Given the description of an element on the screen output the (x, y) to click on. 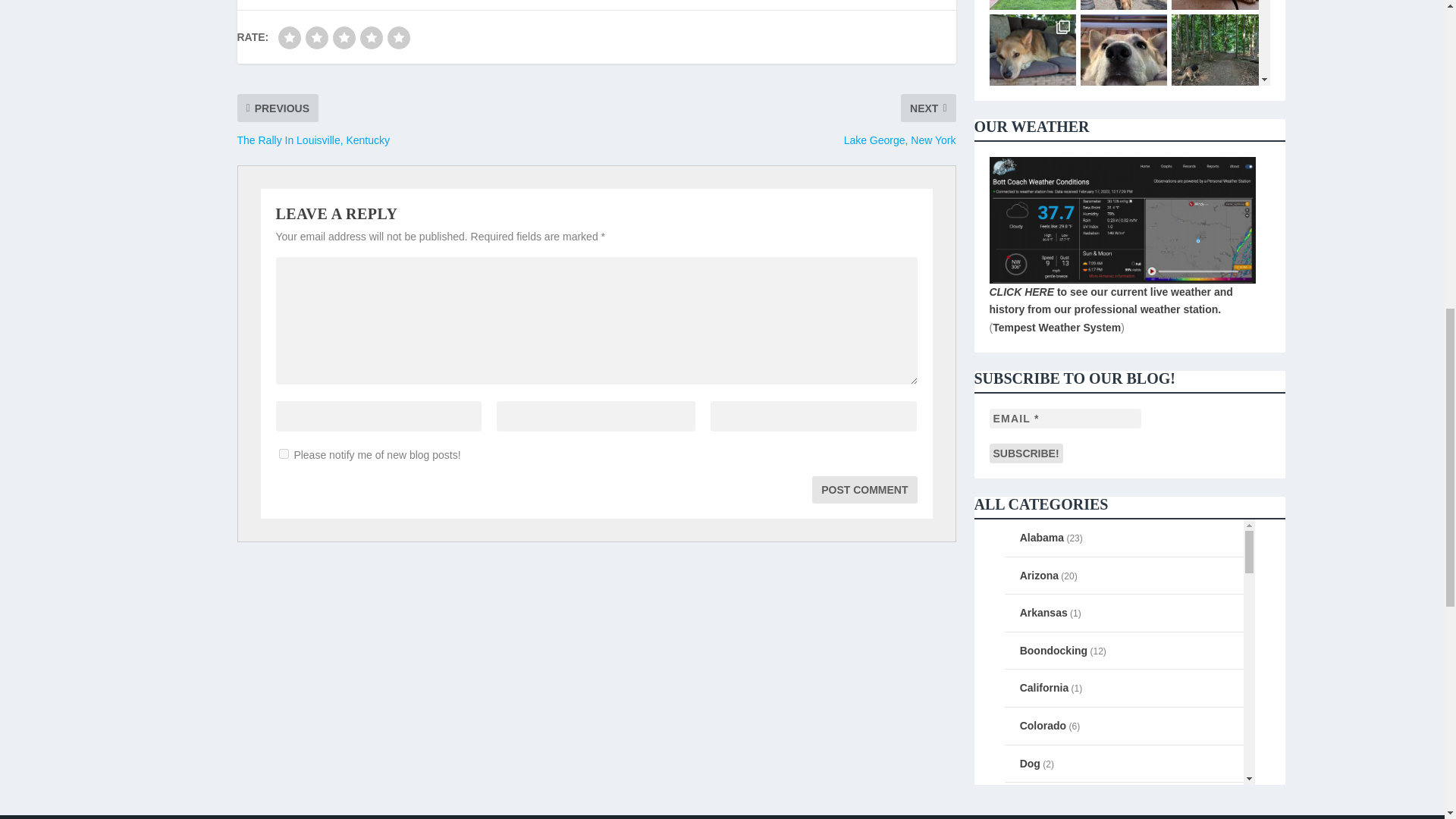
gorgeous (398, 37)
1 (283, 453)
Subscribe! (1025, 453)
good (370, 37)
Post Comment (864, 489)
regular (344, 37)
poor (317, 37)
bad (289, 37)
Post Comment (864, 489)
